Given the description of an element on the screen output the (x, y) to click on. 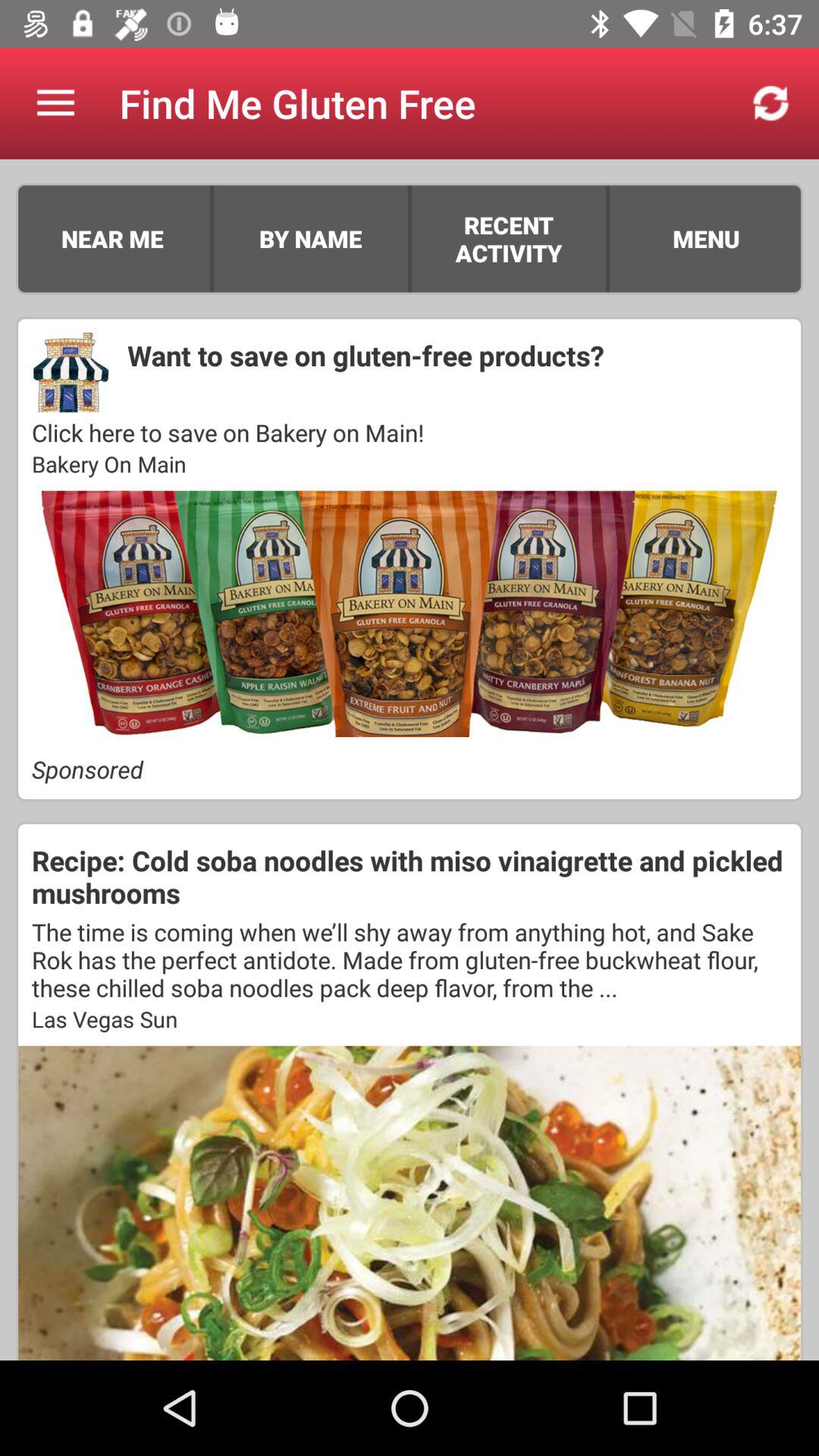
swipe until las vegas sun (409, 1018)
